Given the description of an element on the screen output the (x, y) to click on. 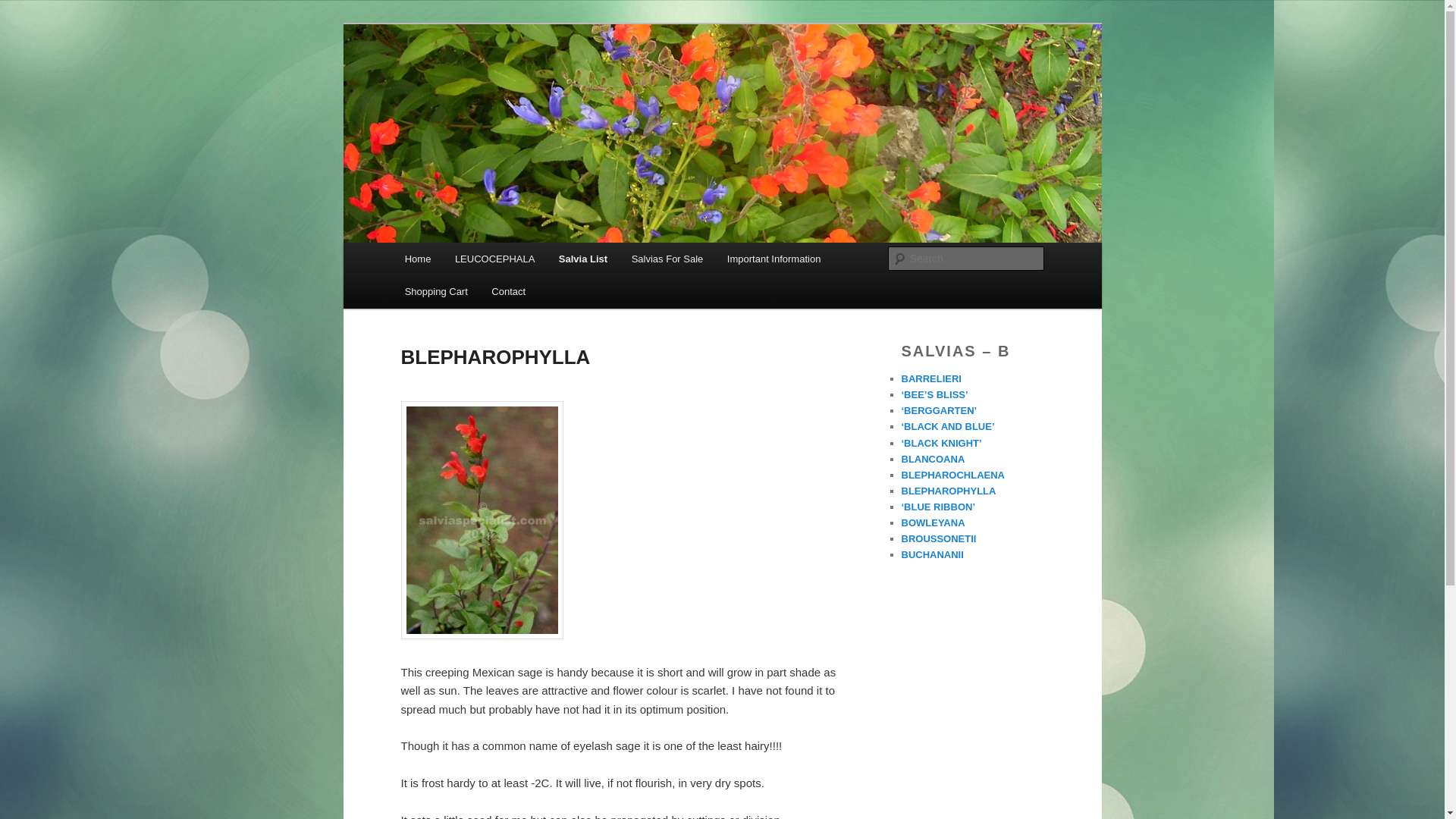
Skip to secondary content (479, 261)
Search (24, 8)
Salvia List (583, 258)
Unlimited Perennials (513, 78)
Skip to secondary content (479, 261)
Home (417, 258)
Home (417, 258)
Skip to primary content (472, 261)
LEUCOCEPHALA (494, 258)
Unlimited Perennials (513, 78)
Skip to primary content (472, 261)
